Given the description of an element on the screen output the (x, y) to click on. 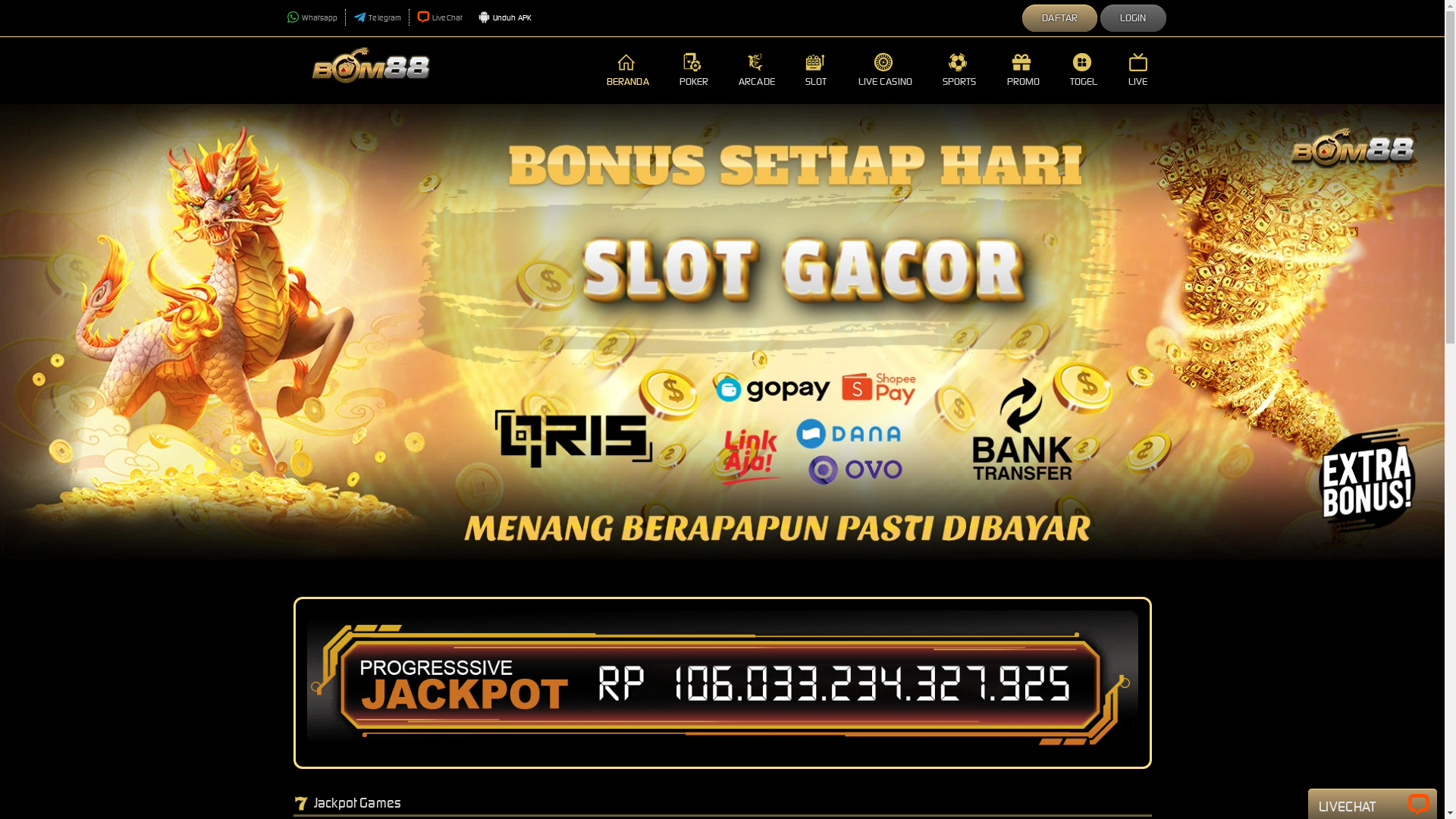
LiveChat Element type: text (439, 17)
LOGIN Element type: text (1133, 18)
Unduh APK Element type: text (504, 17)
LIVECHAT Element type: text (1372, 805)
PROMO Element type: text (1023, 70)
LIVE CASINO Element type: text (885, 70)
SLOT Element type: text (816, 70)
Telegram Element type: text (377, 17)
SPORTS Element type: text (959, 70)
TOGEL Element type: text (1083, 70)
LIVE Element type: text (1139, 70)
ARCADE Element type: text (756, 70)
POKER Element type: text (694, 70)
Whatsapp Element type: text (312, 17)
DAFTAR Element type: text (1059, 18)
BERANDA Element type: text (627, 70)
